Given the description of an element on the screen output the (x, y) to click on. 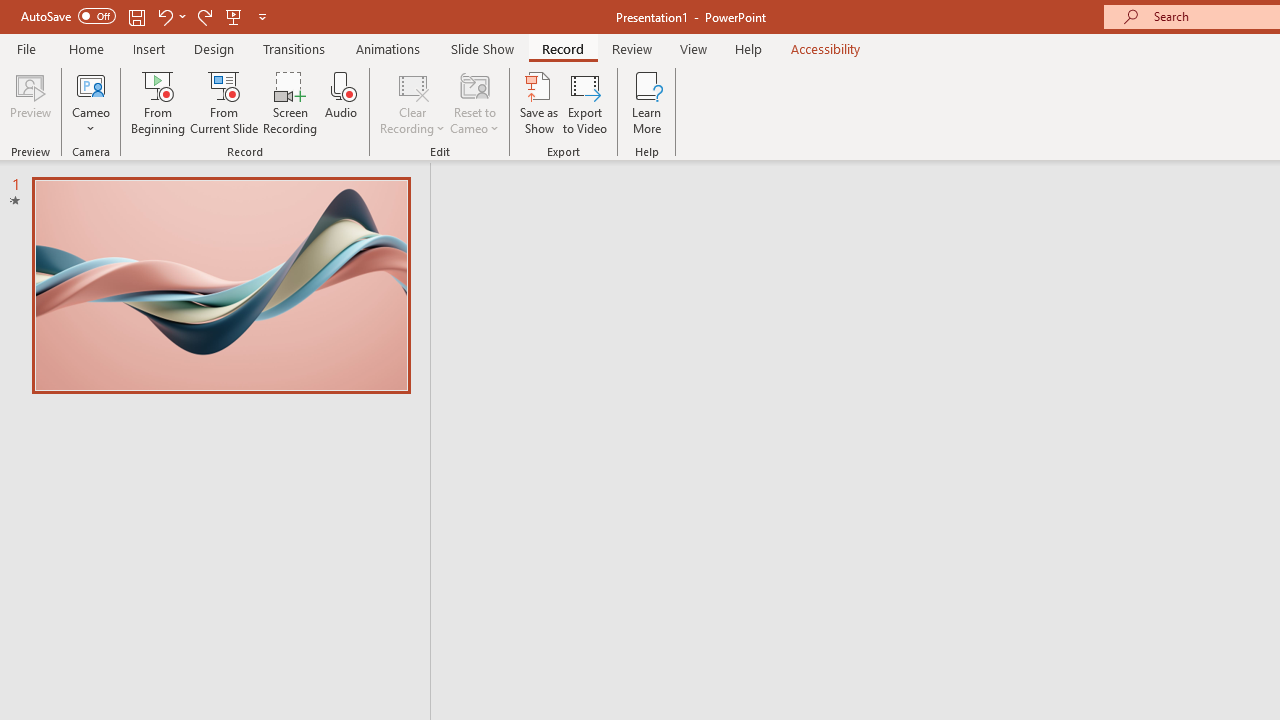
Export to Video (585, 102)
